Given the description of an element on the screen output the (x, y) to click on. 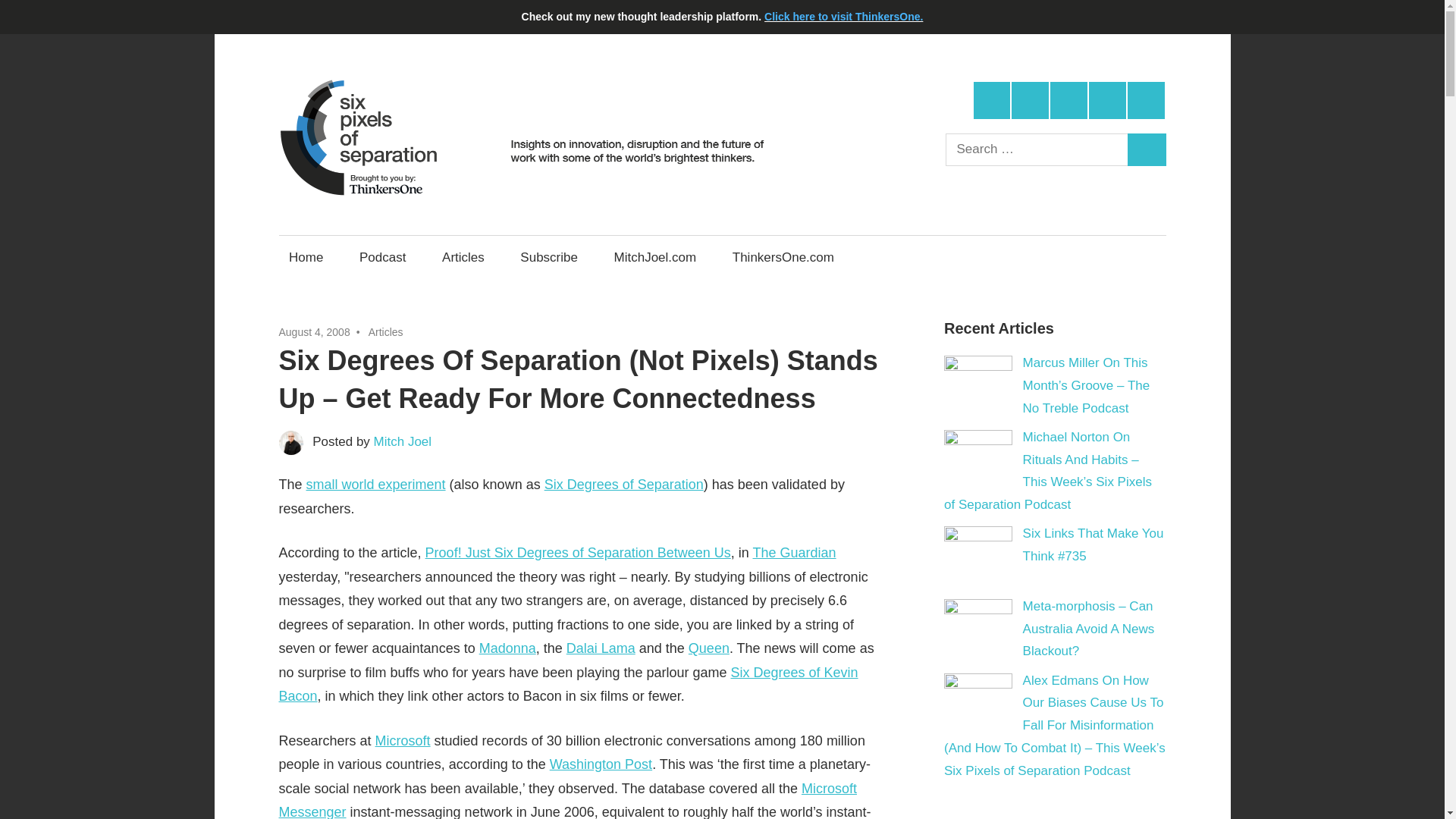
Facebook (1029, 99)
Six Degrees of Separation (623, 484)
Home (306, 257)
Microsoft (402, 740)
ThinkersOne.com (783, 257)
Podcast (382, 257)
View all posts by Mitch Joel (403, 441)
Queen (708, 648)
MitchJoel.com (655, 257)
Search (1146, 149)
Microsoft Messenger (568, 800)
Subscribe (549, 257)
Facebook (1029, 99)
Click here to visit ThinkersOne. (843, 16)
